Given the description of an element on the screen output the (x, y) to click on. 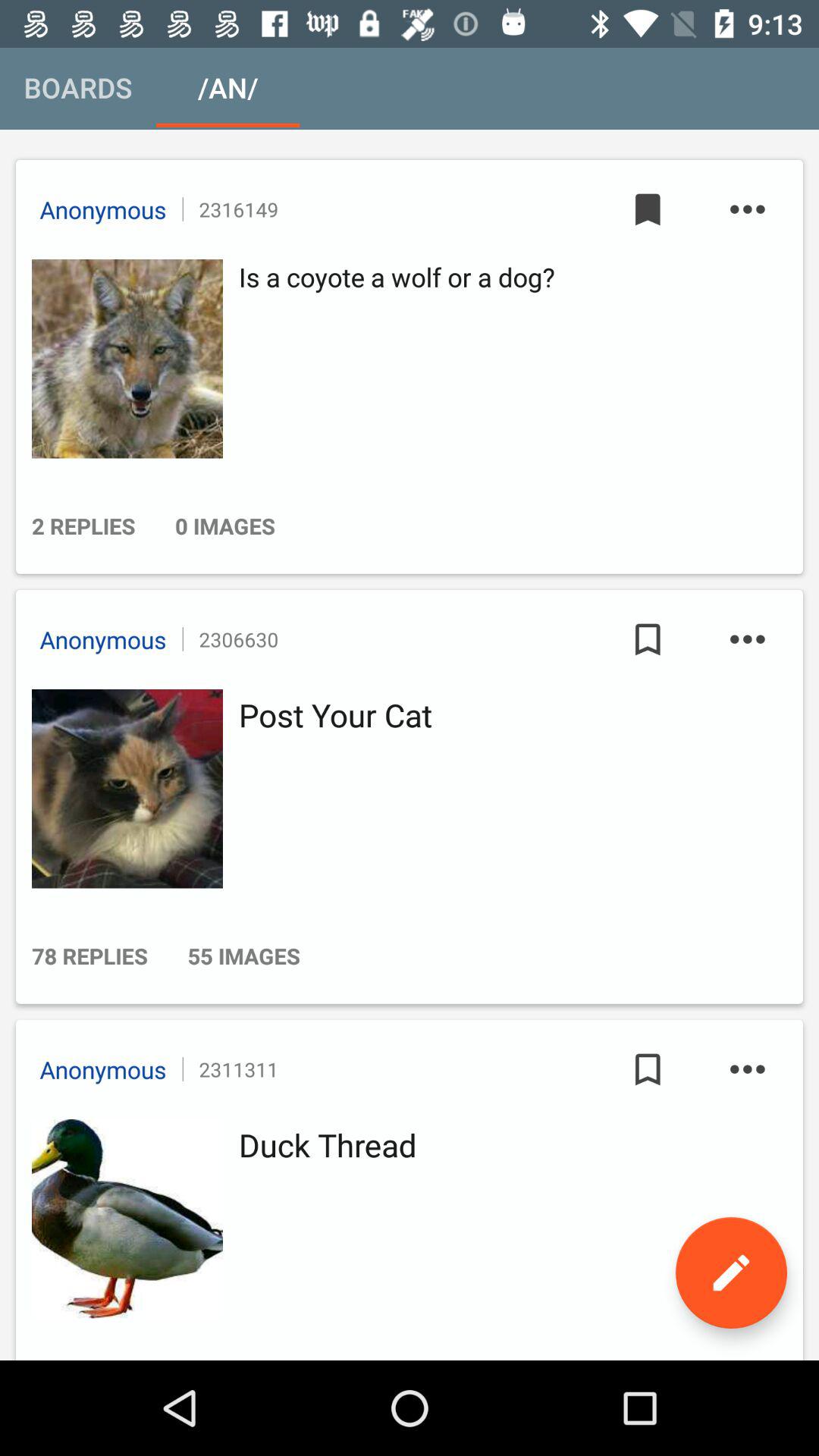
choose the icon to the right of the 2306630 item (647, 639)
